Given the description of an element on the screen output the (x, y) to click on. 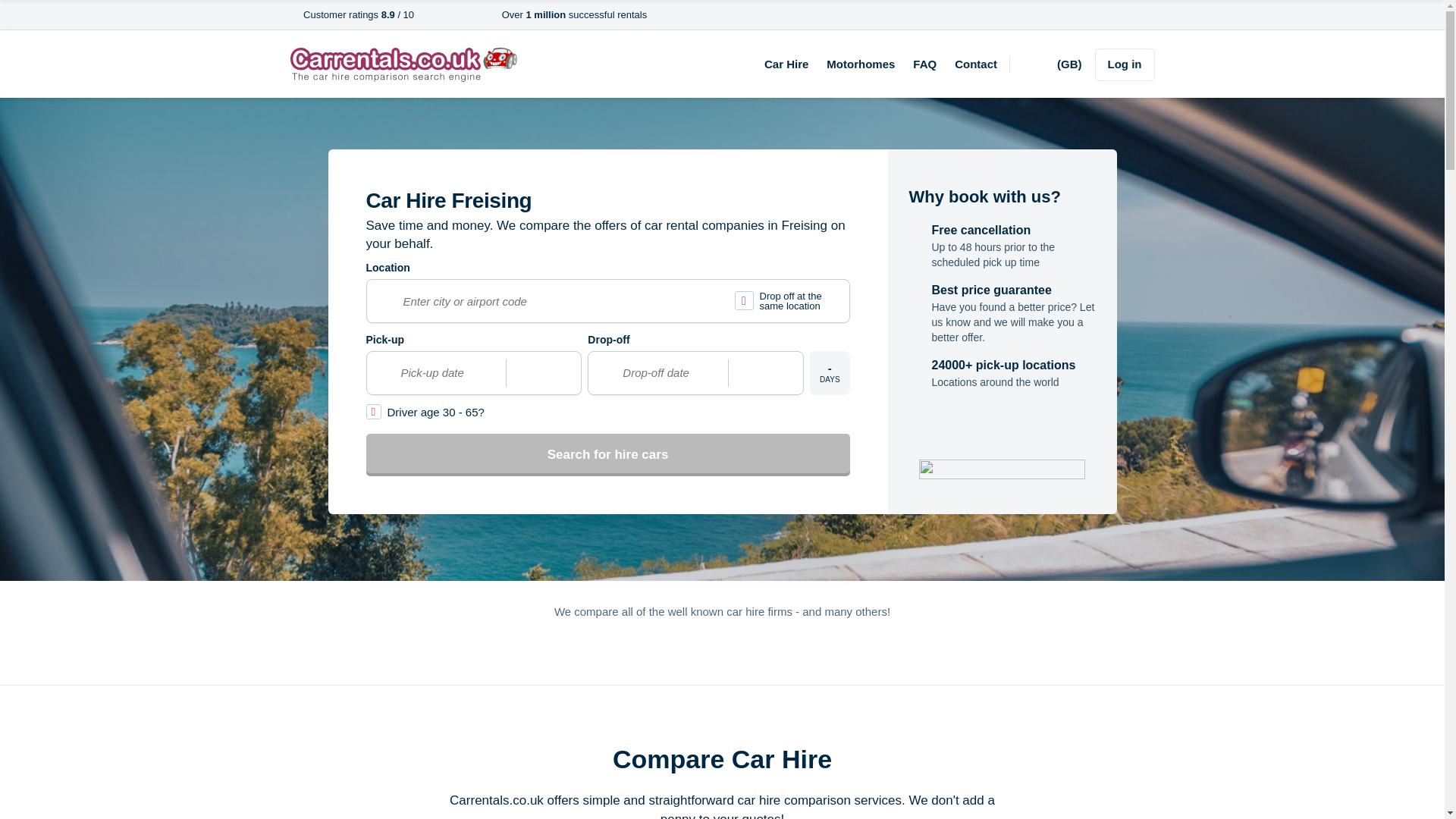
Motorhomes (861, 63)
Search for hire cars (606, 454)
Car Hire (786, 63)
Contact (976, 63)
FAQ (924, 63)
globe-regular (1047, 65)
